Given the description of an element on the screen output the (x, y) to click on. 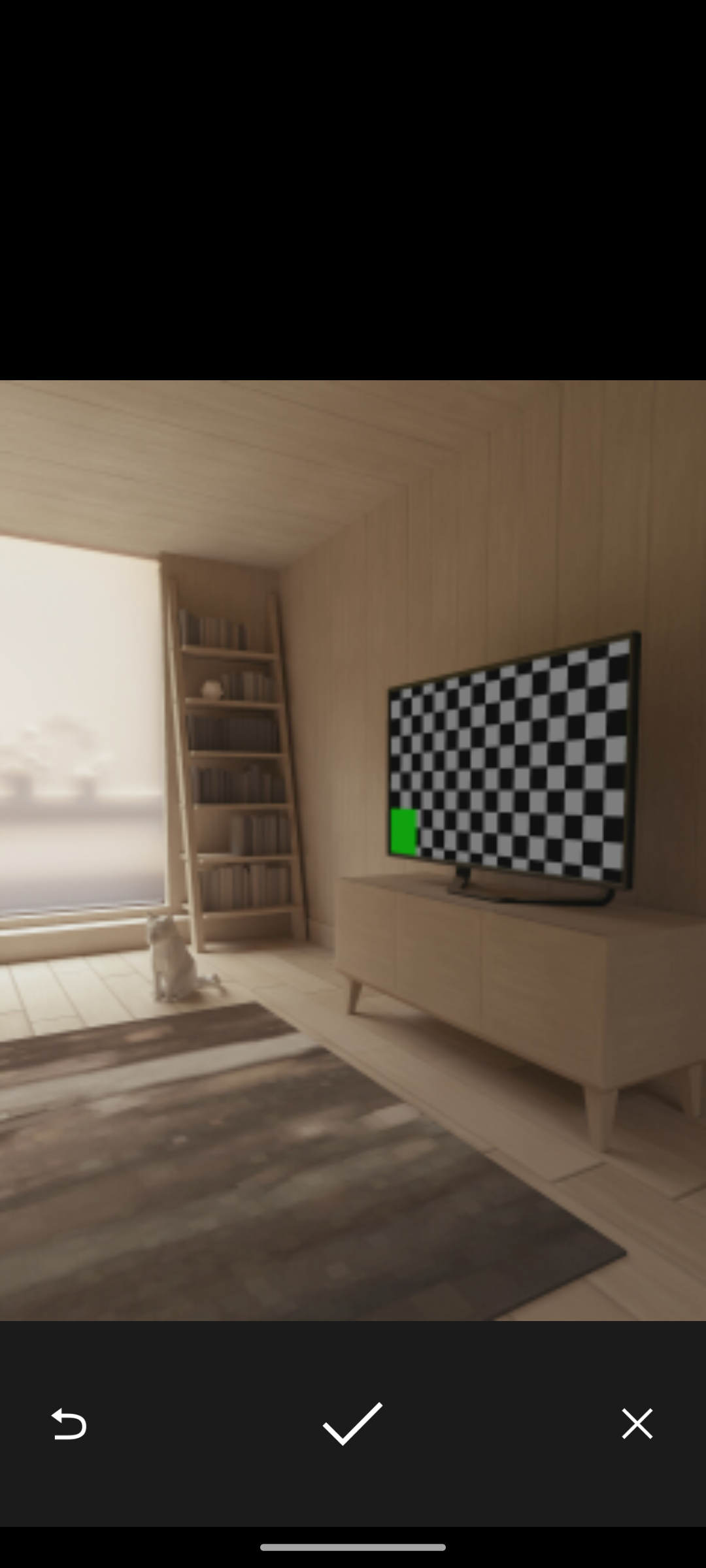
Done (352, 1423)
Retake (68, 1423)
Cancel (637, 1423)
